Given the description of an element on the screen output the (x, y) to click on. 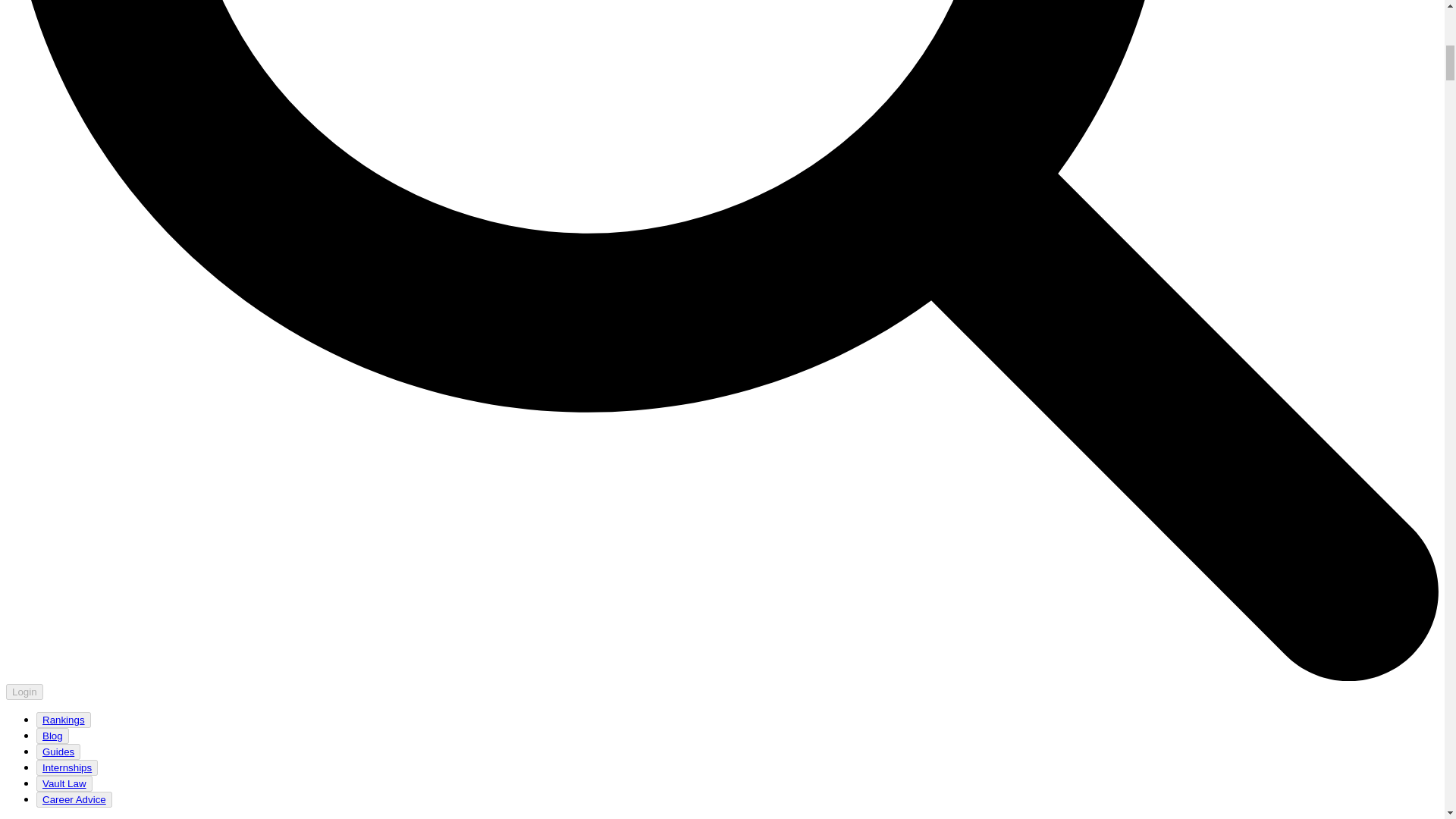
Career Advice (74, 799)
Guides (58, 751)
Internships (66, 767)
Internships (66, 767)
Vault Law (64, 783)
Rankings (63, 719)
Career Advice (74, 799)
Vault Law (63, 783)
Login (24, 690)
Guides (58, 751)
Blog (52, 735)
Rankings (63, 719)
Login (24, 691)
Blog (52, 736)
